Given the description of an element on the screen output the (x, y) to click on. 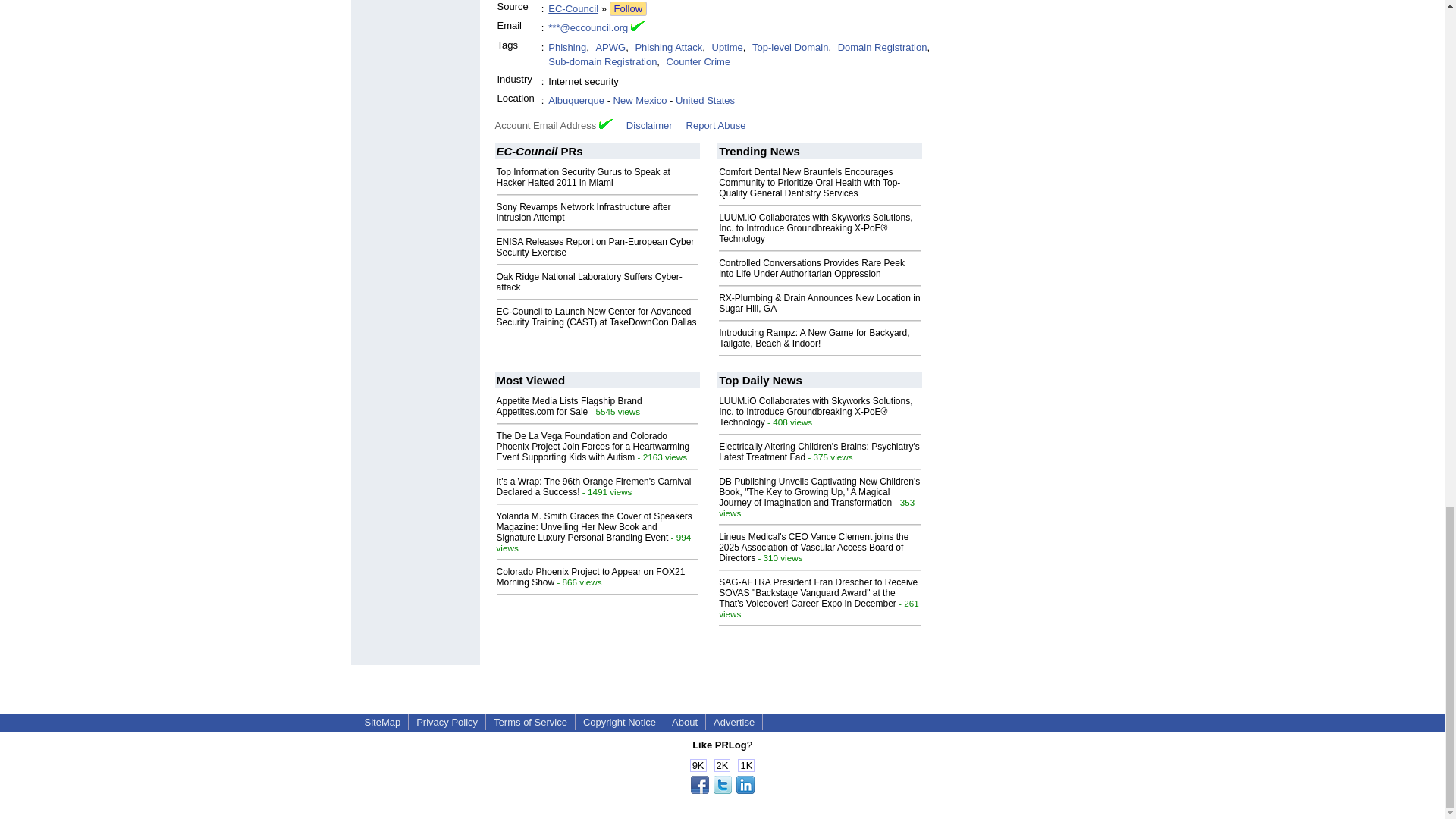
Verified (605, 123)
Email Verified (637, 28)
Share this page! (722, 790)
